Given the description of an element on the screen output the (x, y) to click on. 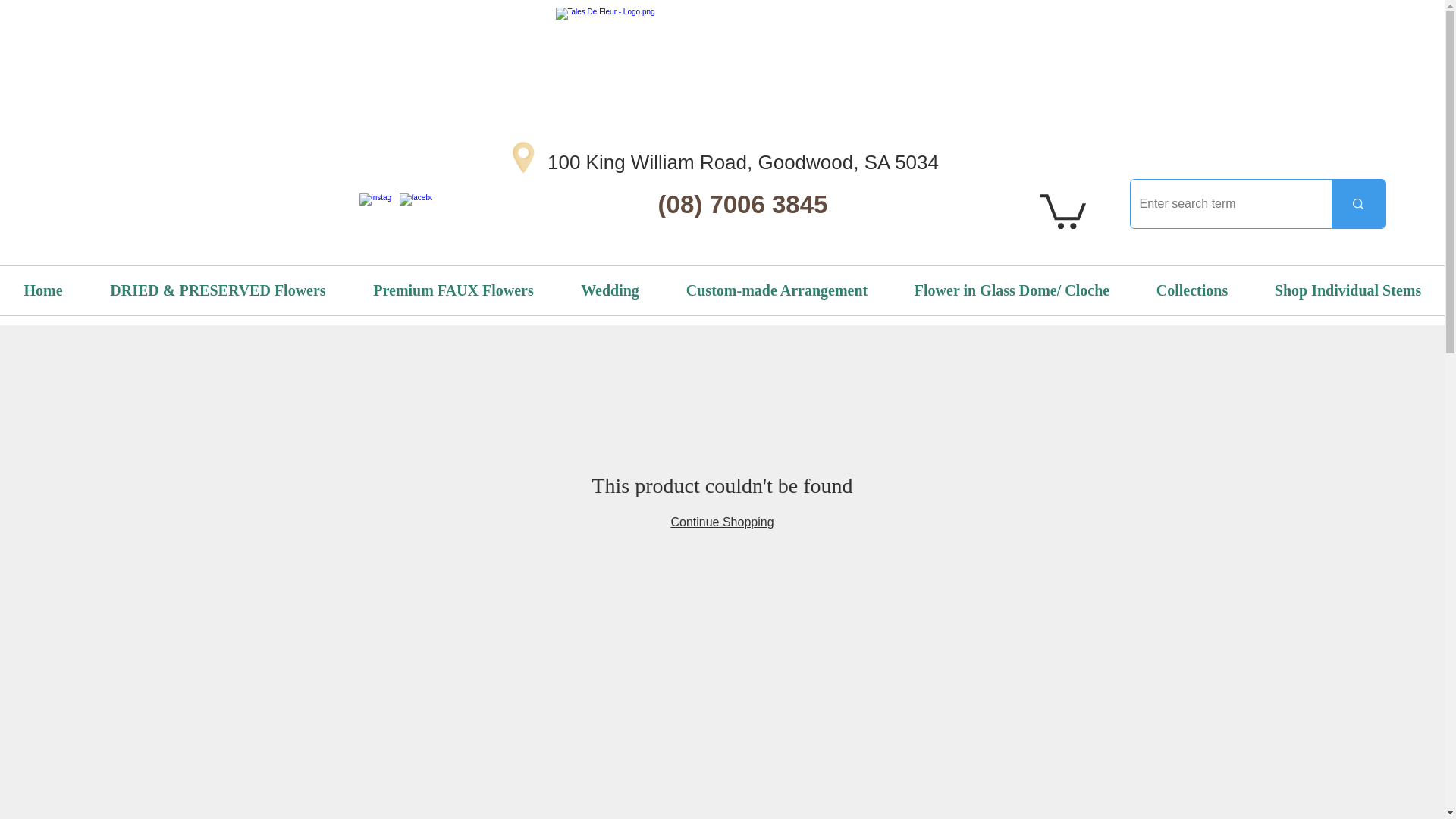
Custom-made Arrangement (776, 290)
Continue Shopping (721, 521)
Wedding (609, 290)
Premium FAUX Flowers (453, 290)
Home (42, 290)
